Given the description of an element on the screen output the (x, y) to click on. 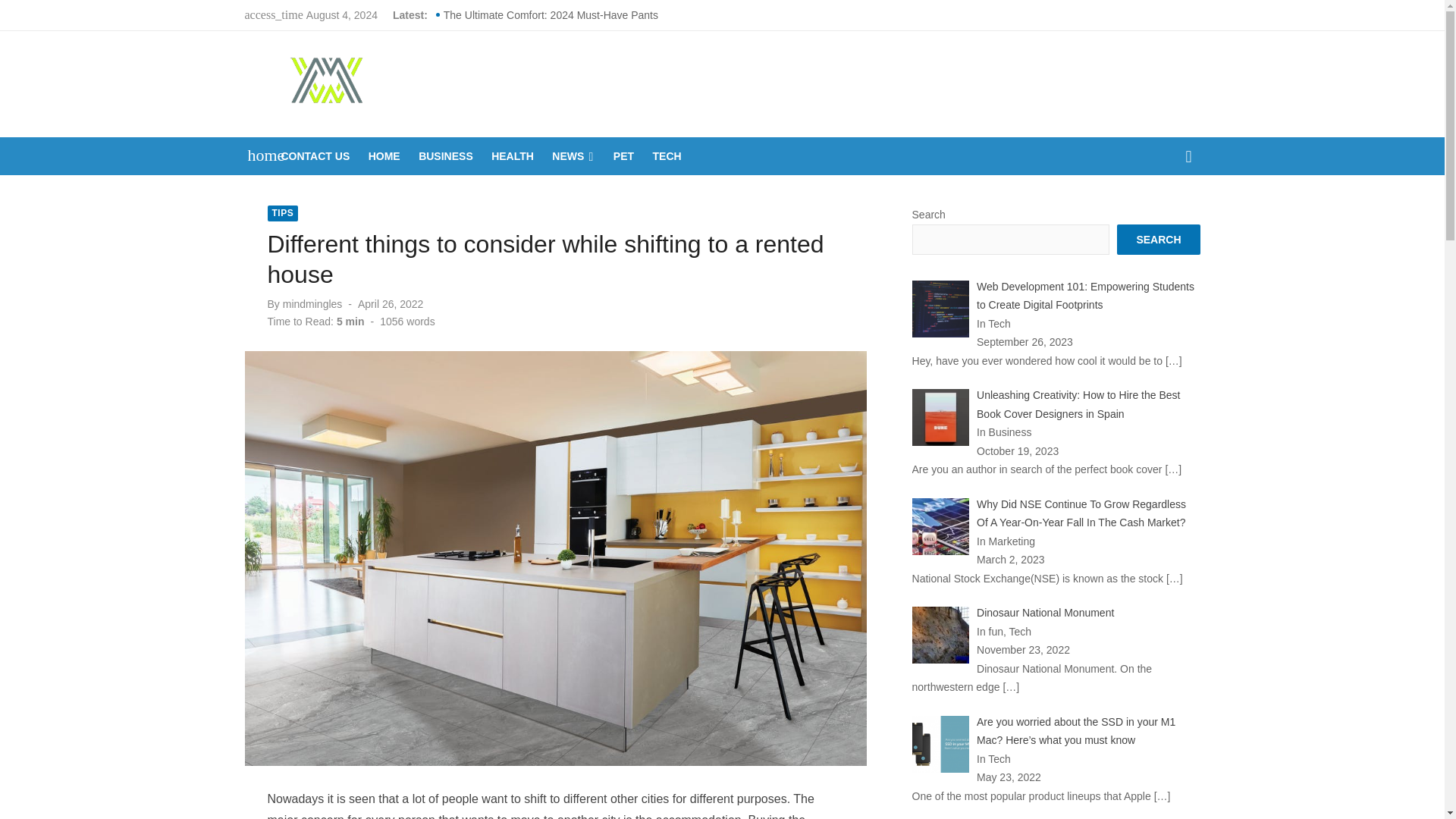
BUSINESS (445, 156)
NEWS (572, 156)
HOME (384, 156)
TIPS (282, 213)
CONTACT US (315, 156)
home (258, 154)
mindmingles (312, 304)
TECH (666, 156)
HEALTH (512, 156)
The Ultimate Comfort: 2024 Must-Have Pants (551, 15)
